Given the description of an element on the screen output the (x, y) to click on. 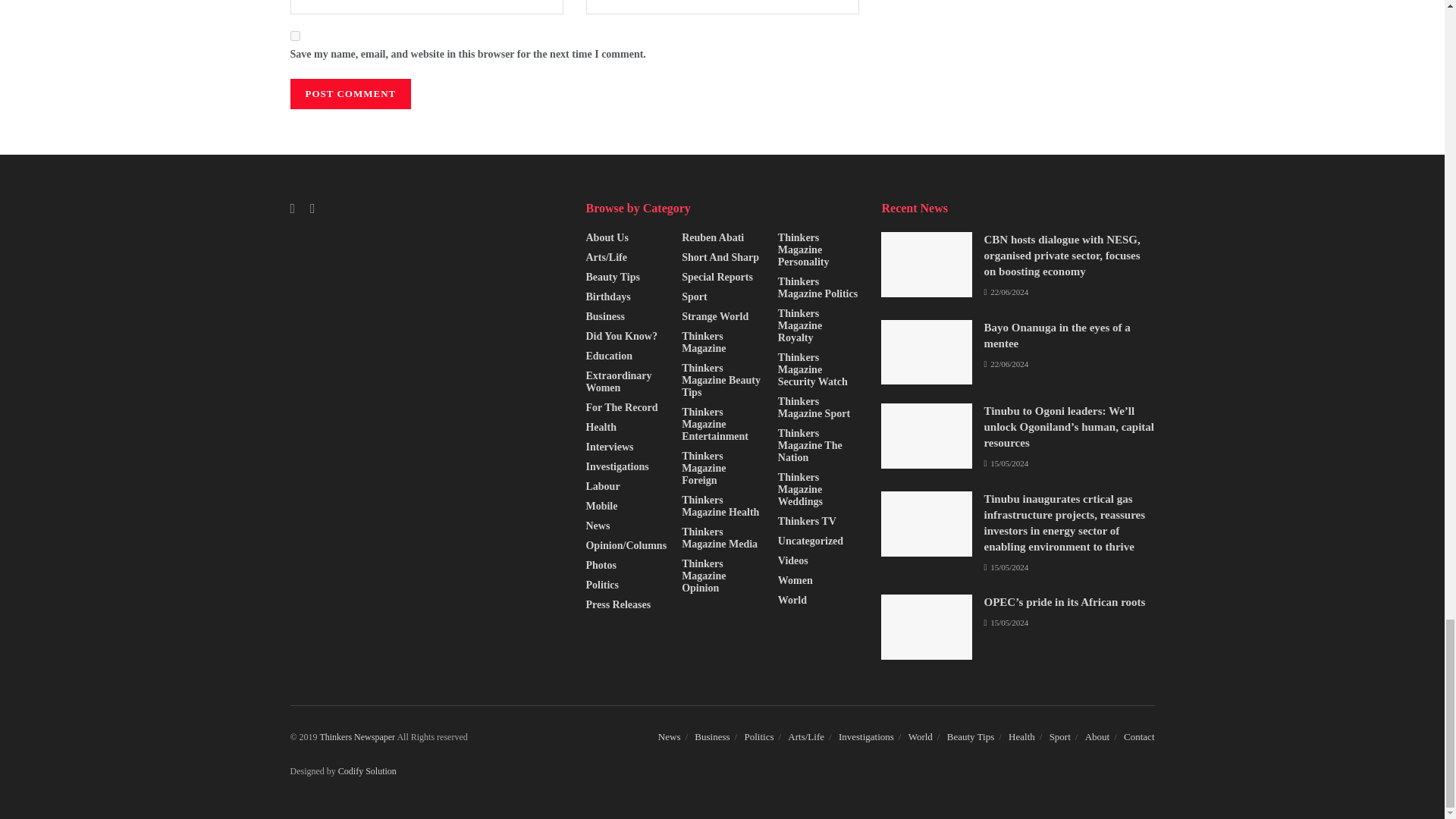
yes (294, 35)
Post Comment (349, 93)
Top News Site (357, 737)
